Given the description of an element on the screen output the (x, y) to click on. 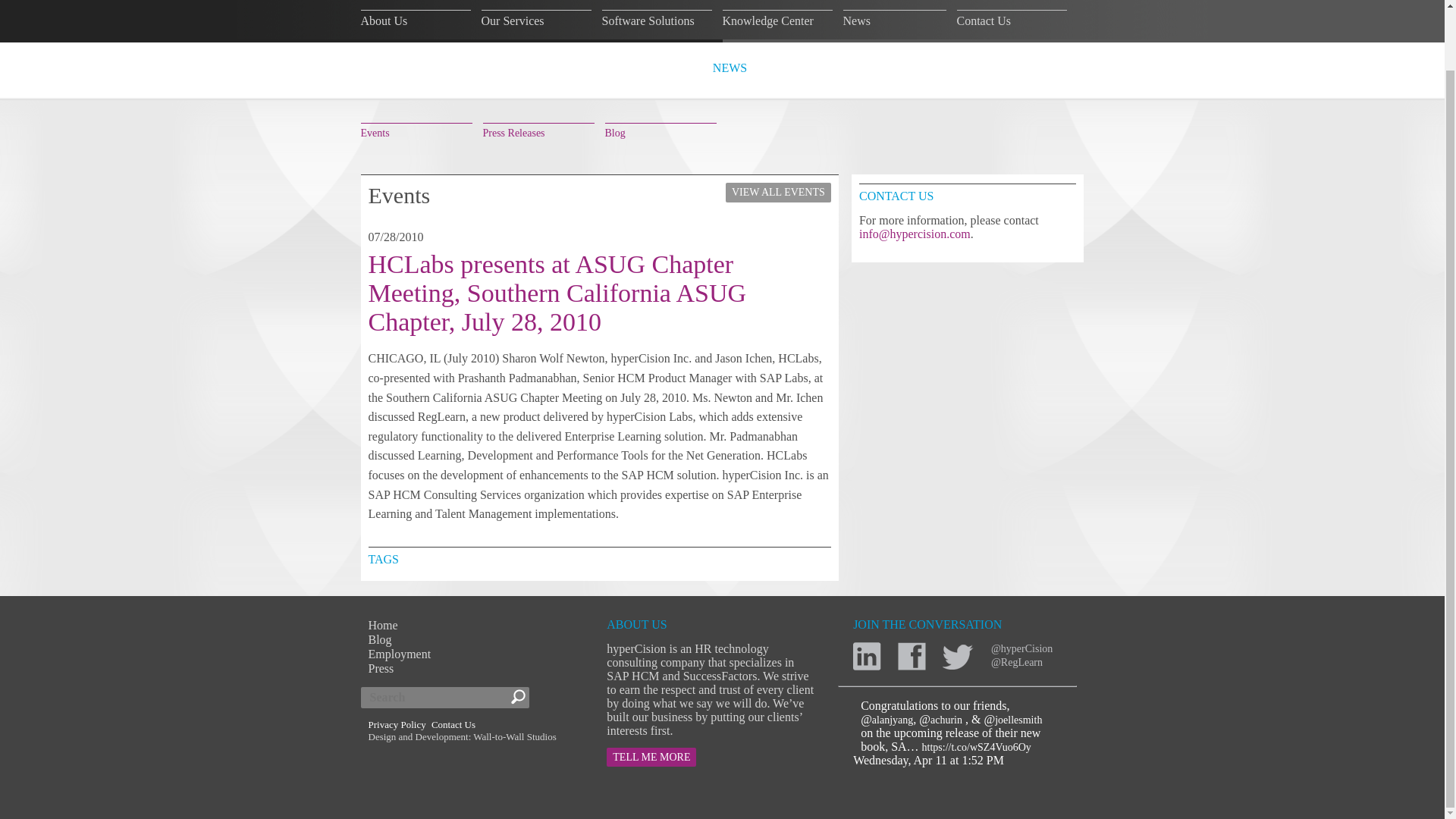
VIEW ALL EVENTS (778, 192)
About Us (415, 18)
Blog (660, 130)
Home (382, 625)
News (894, 18)
Press Releases (537, 130)
Blog (379, 639)
Software Solutions (656, 18)
Knowledge Center (776, 18)
Events (416, 130)
Contact Us (1011, 18)
Our Services (535, 18)
